Given the description of an element on the screen output the (x, y) to click on. 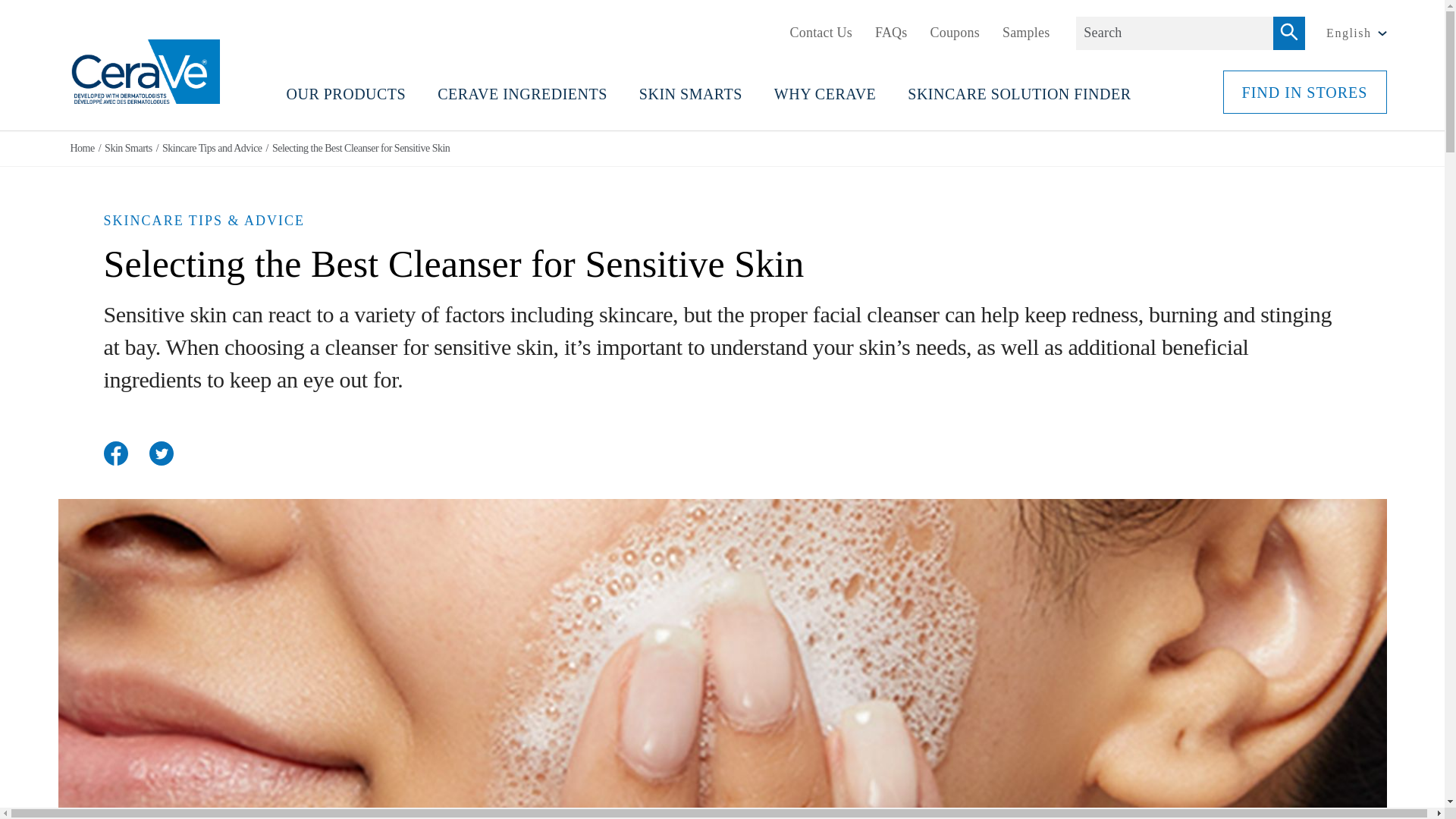
English (1356, 32)
Skin Smarts (123, 148)
Home (81, 148)
Skincare Tips and Advice (207, 148)
FAQs (891, 32)
Samples (1026, 32)
Contact Us (821, 32)
Selecting the Best Cleanser for Sensitive Skin (355, 148)
OUR PRODUCTS (345, 98)
Coupons (954, 32)
